Given the description of an element on the screen output the (x, y) to click on. 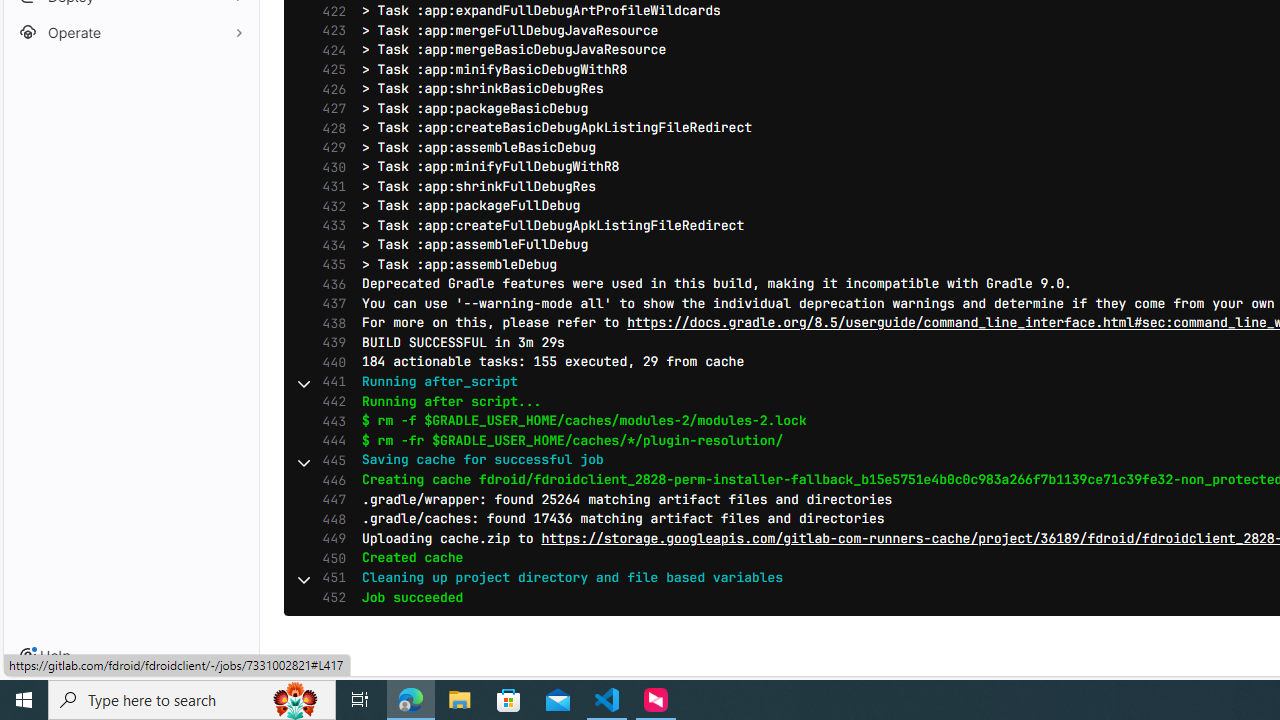
447 (329, 499)
429 (329, 147)
438 (329, 323)
441 (329, 381)
430 (329, 166)
422 (329, 11)
424 (329, 50)
448 (329, 519)
433 (329, 226)
442 (329, 401)
435 (329, 264)
450 (329, 557)
445 (329, 460)
444 (329, 440)
Operate (130, 31)
